Given the description of an element on the screen output the (x, y) to click on. 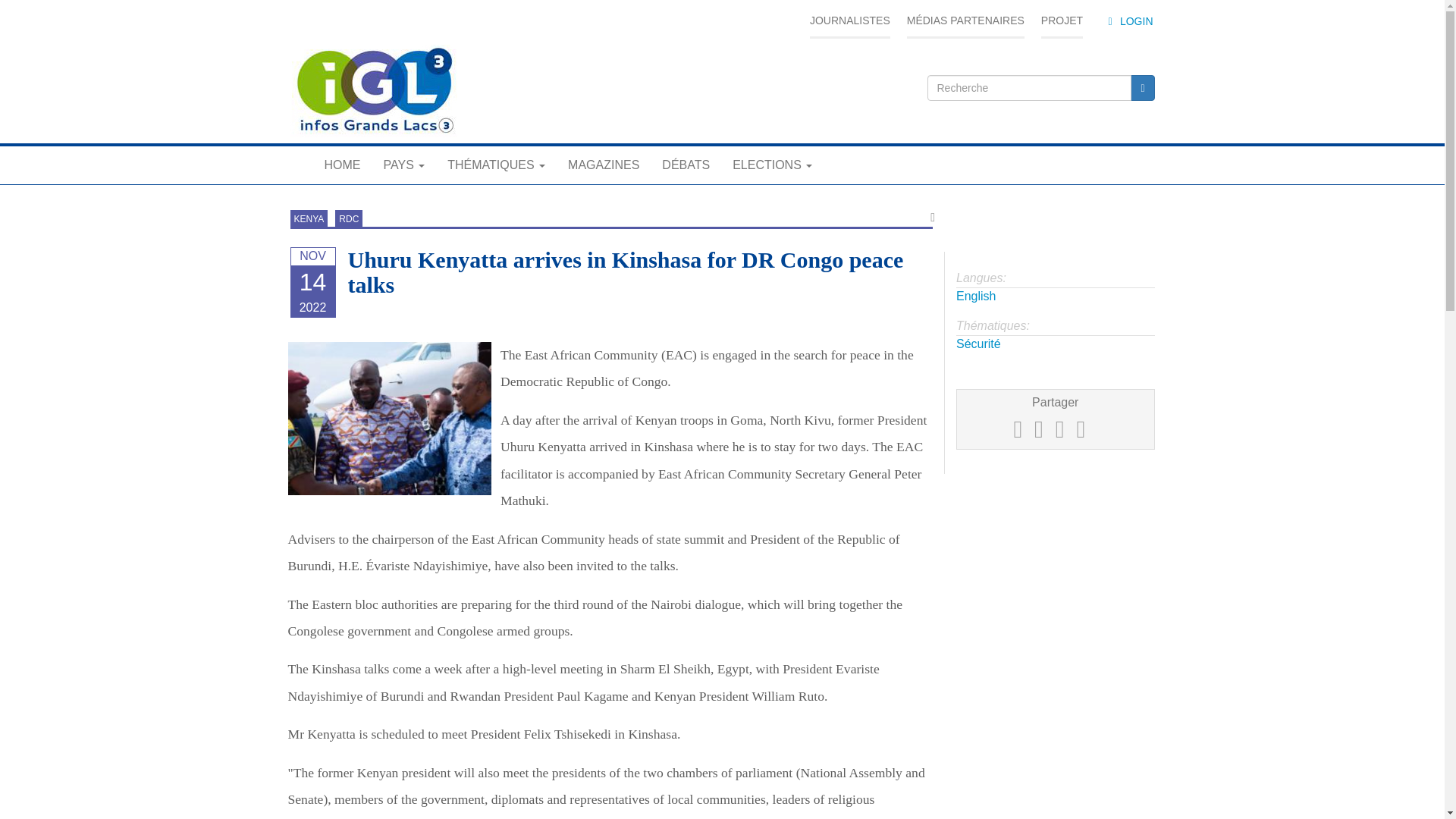
LOGIN (1128, 20)
PROJET (1062, 21)
Accueil (373, 91)
JOURNALISTES (849, 21)
PAYS (403, 165)
HOME (342, 165)
